Given the description of an element on the screen output the (x, y) to click on. 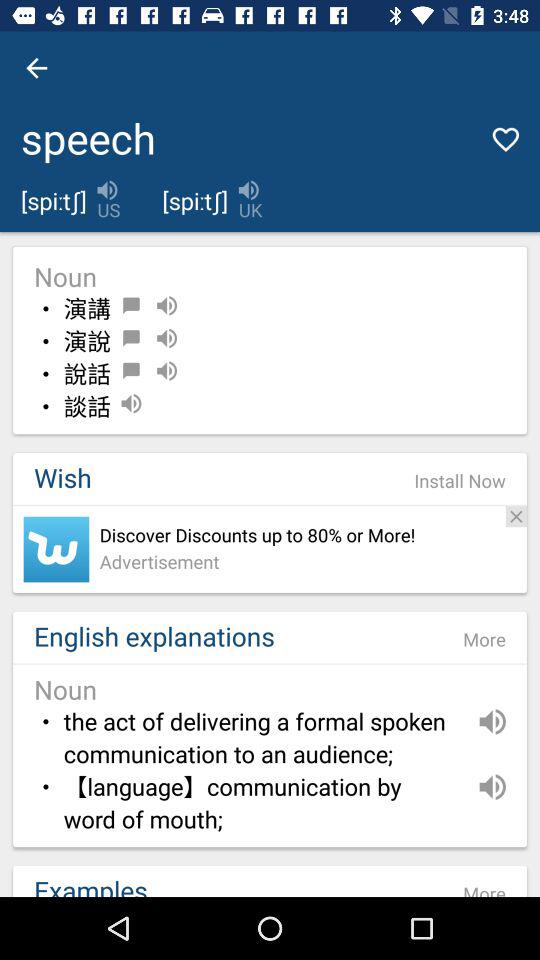
open the app (56, 549)
